Given the description of an element on the screen output the (x, y) to click on. 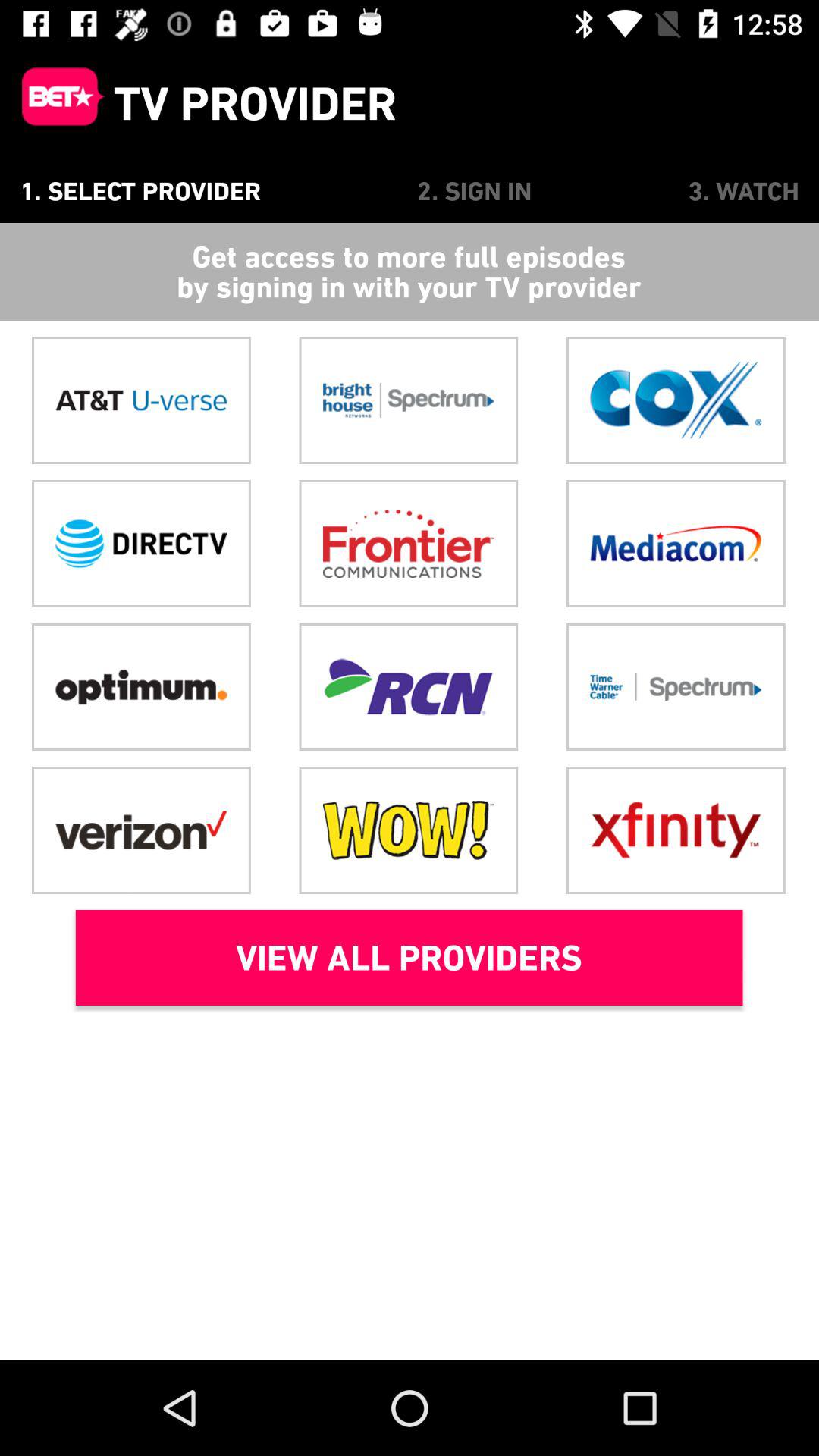
turn off item next to tv provider item (56, 103)
